Given the description of an element on the screen output the (x, y) to click on. 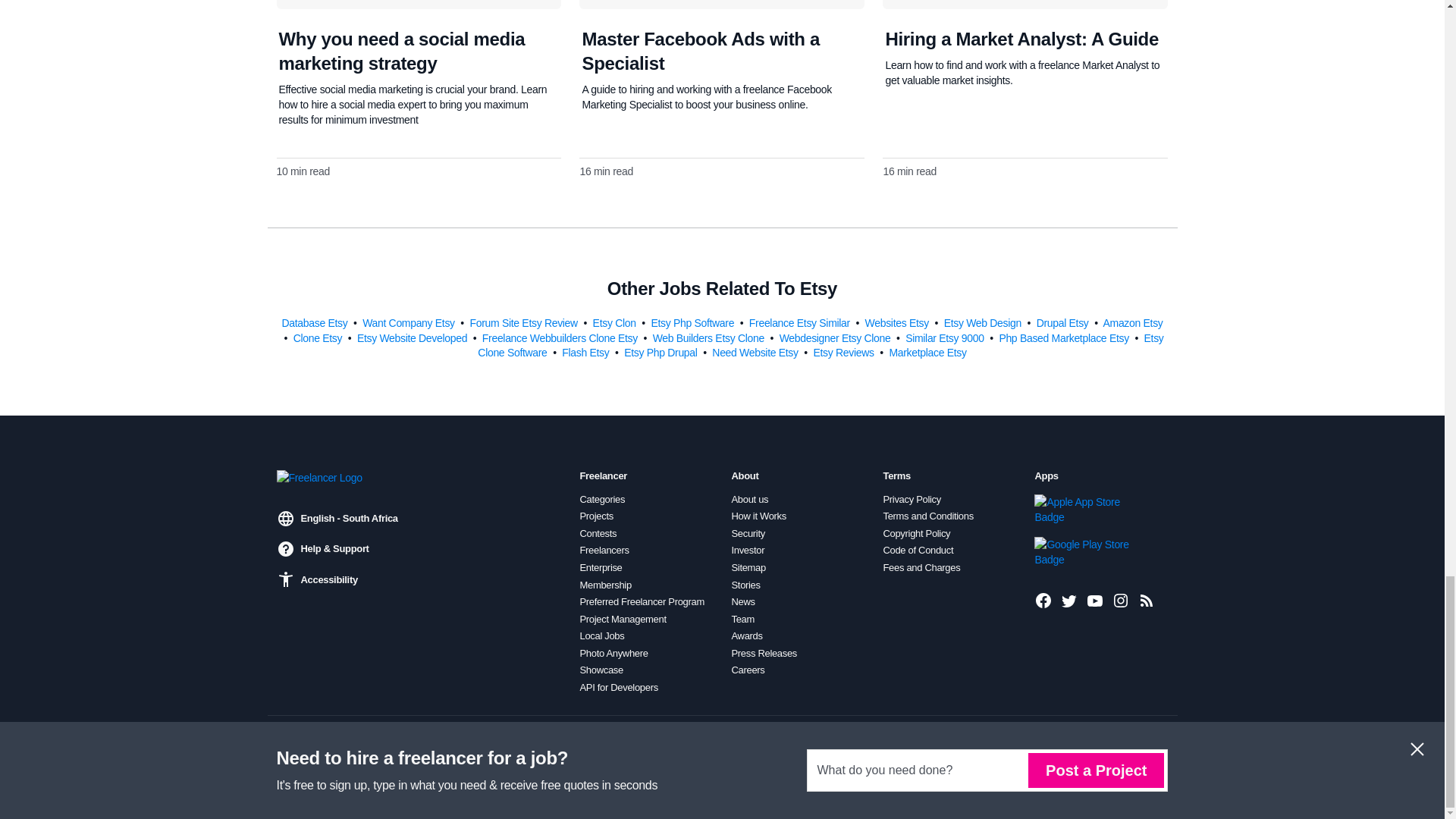
Freelancer on Facebook (1042, 600)
Get it on Google Play (1085, 552)
Freelancer on Youtube (1094, 600)
Freelancer on Instagram (1120, 600)
Download on the App Store (1085, 509)
Latest Projects (1146, 600)
Freelancer on Twitter (1068, 600)
